Given the description of an element on the screen output the (x, y) to click on. 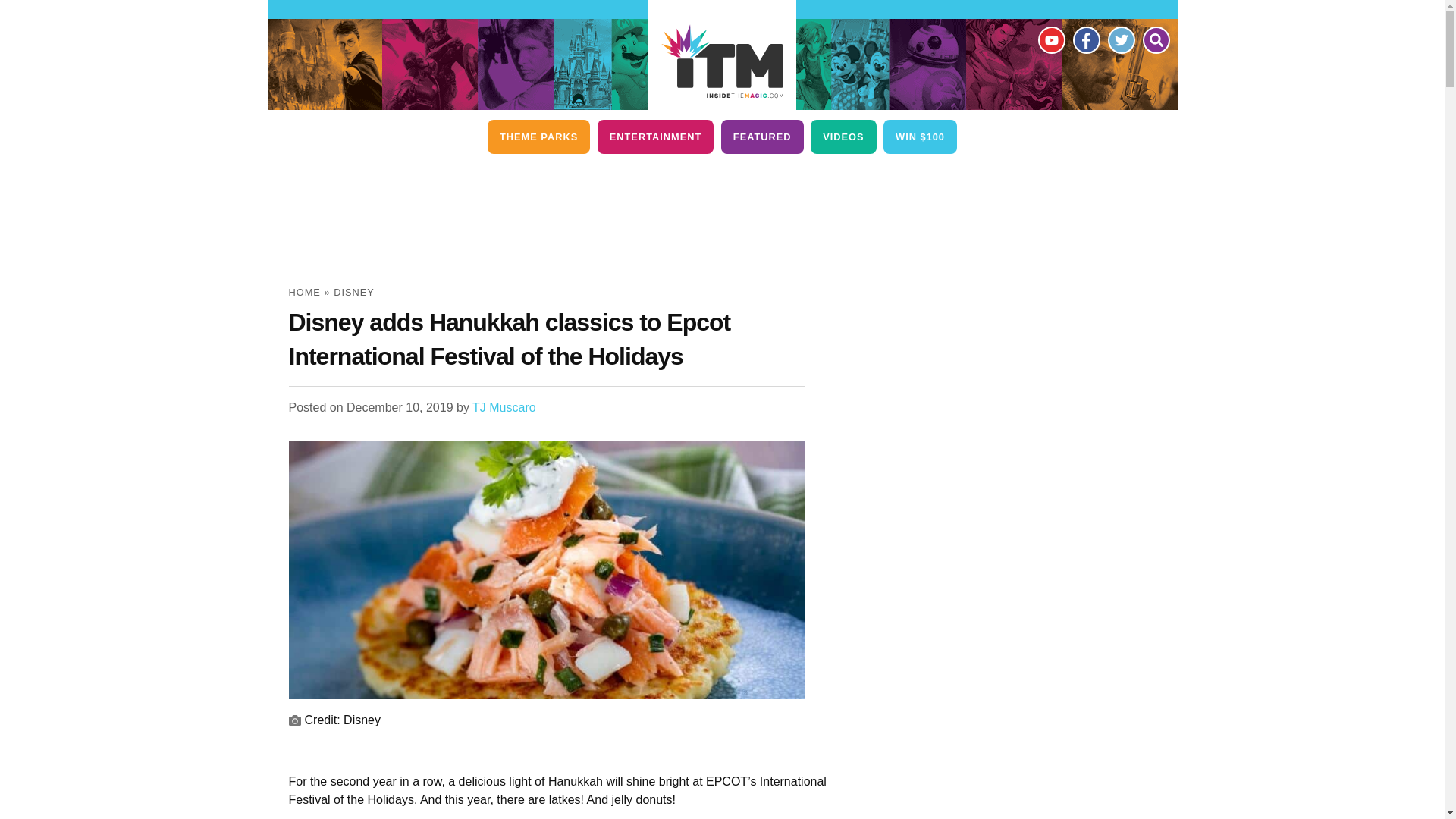
THEME PARKS (538, 136)
YouTube (1050, 40)
Search (1155, 40)
Twitter (1120, 40)
FEATURED (761, 136)
ENTERTAINMENT (655, 136)
Facebook (1085, 40)
